Given the description of an element on the screen output the (x, y) to click on. 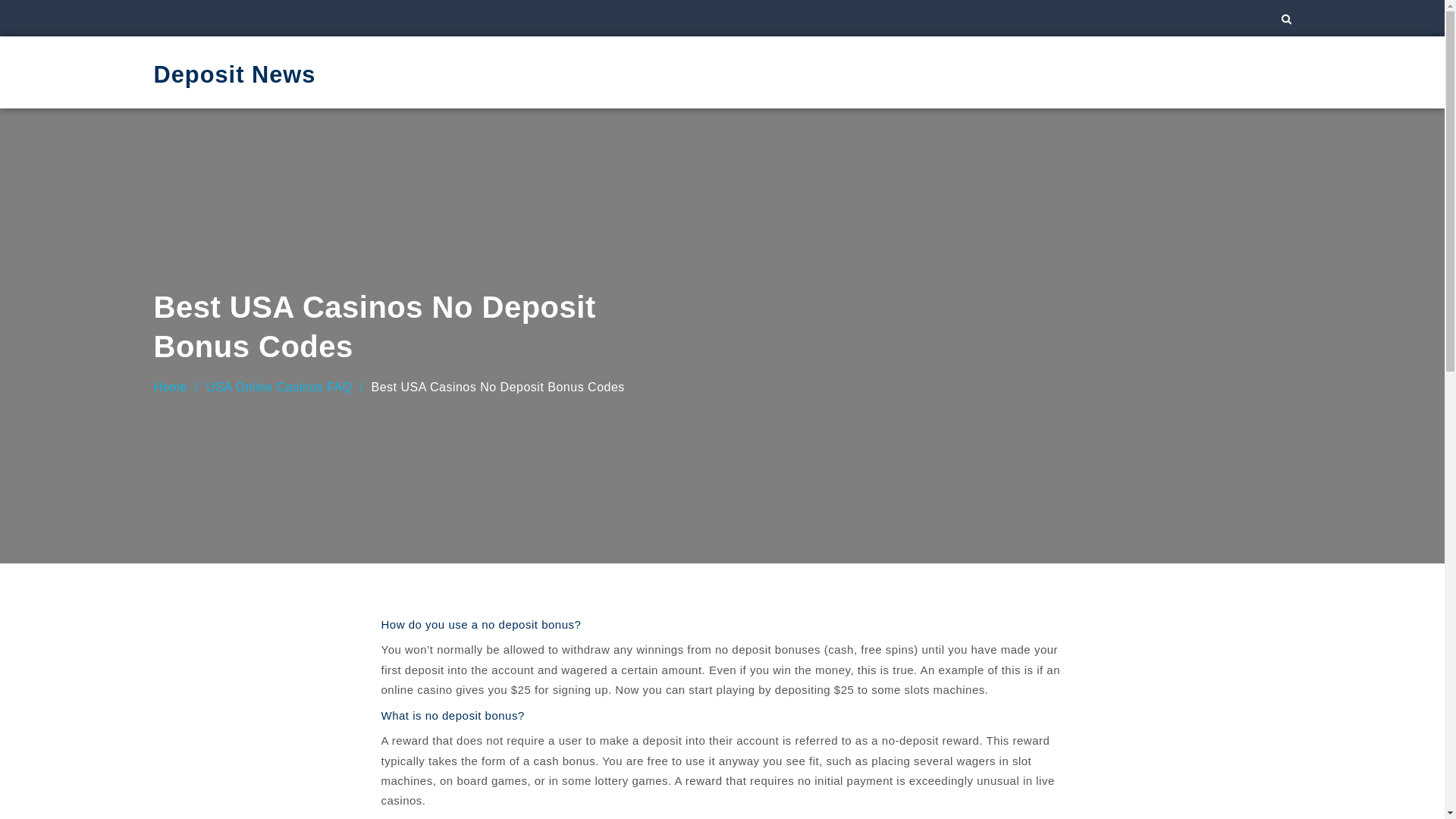
What is no deposit bonus? (452, 714)
USA Online Casinos FAQ (279, 386)
How do you use a no deposit bonus? (480, 623)
Deposit News (233, 73)
Home (169, 386)
